Given the description of an element on the screen output the (x, y) to click on. 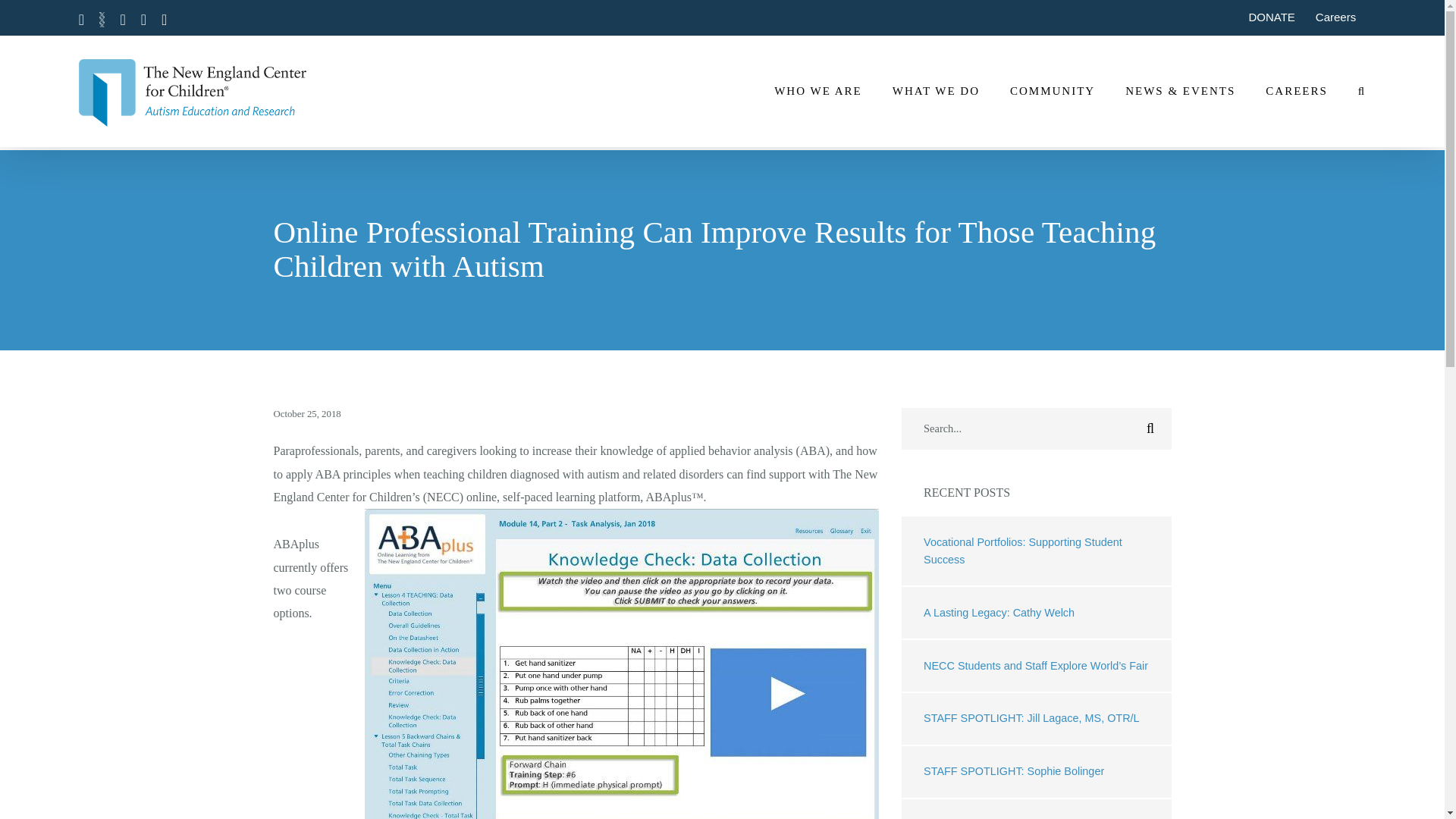
COMMUNITY (1052, 91)
WHO WE ARE (817, 91)
DONATE (1271, 17)
WHAT WE DO (935, 91)
LinkedIn (122, 19)
Twitter (101, 19)
Instagram (144, 19)
Careers (1335, 17)
Facebook (81, 19)
YouTube (164, 19)
